Given the description of an element on the screen output the (x, y) to click on. 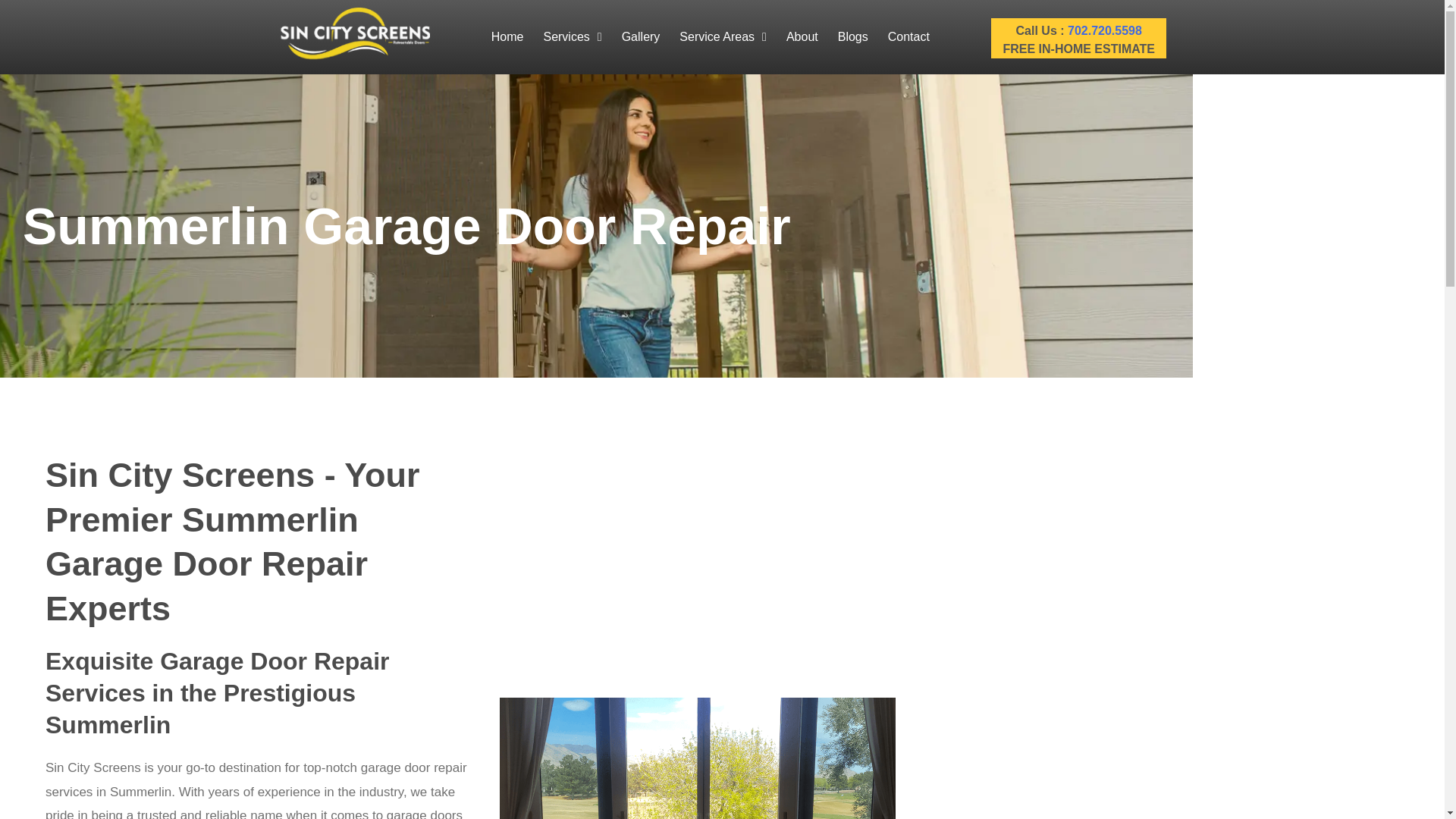
Home (507, 36)
Blogs (852, 36)
Contact (908, 36)
Services (571, 36)
About (802, 36)
Gallery (640, 36)
Service Areas (722, 36)
